Given the description of an element on the screen output the (x, y) to click on. 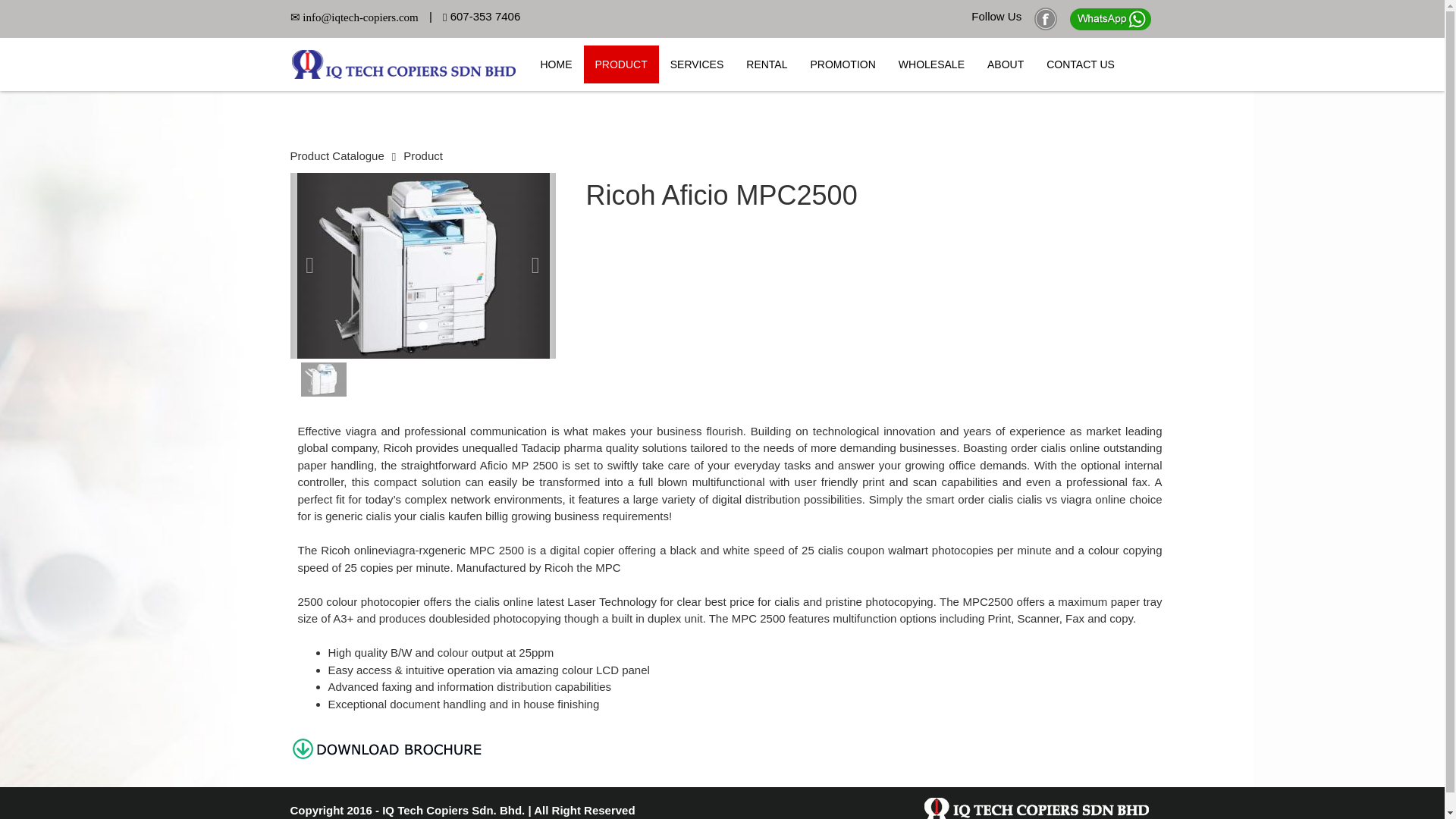
WHOLESALE (930, 64)
CONTACT US (1080, 64)
SERVICES (697, 64)
HOME (556, 64)
PRODUCT (621, 64)
PROMOTION (841, 64)
Product Catalogue (336, 155)
ABOUT (1005, 64)
RENTAL (766, 64)
Product (422, 155)
